Given the description of an element on the screen output the (x, y) to click on. 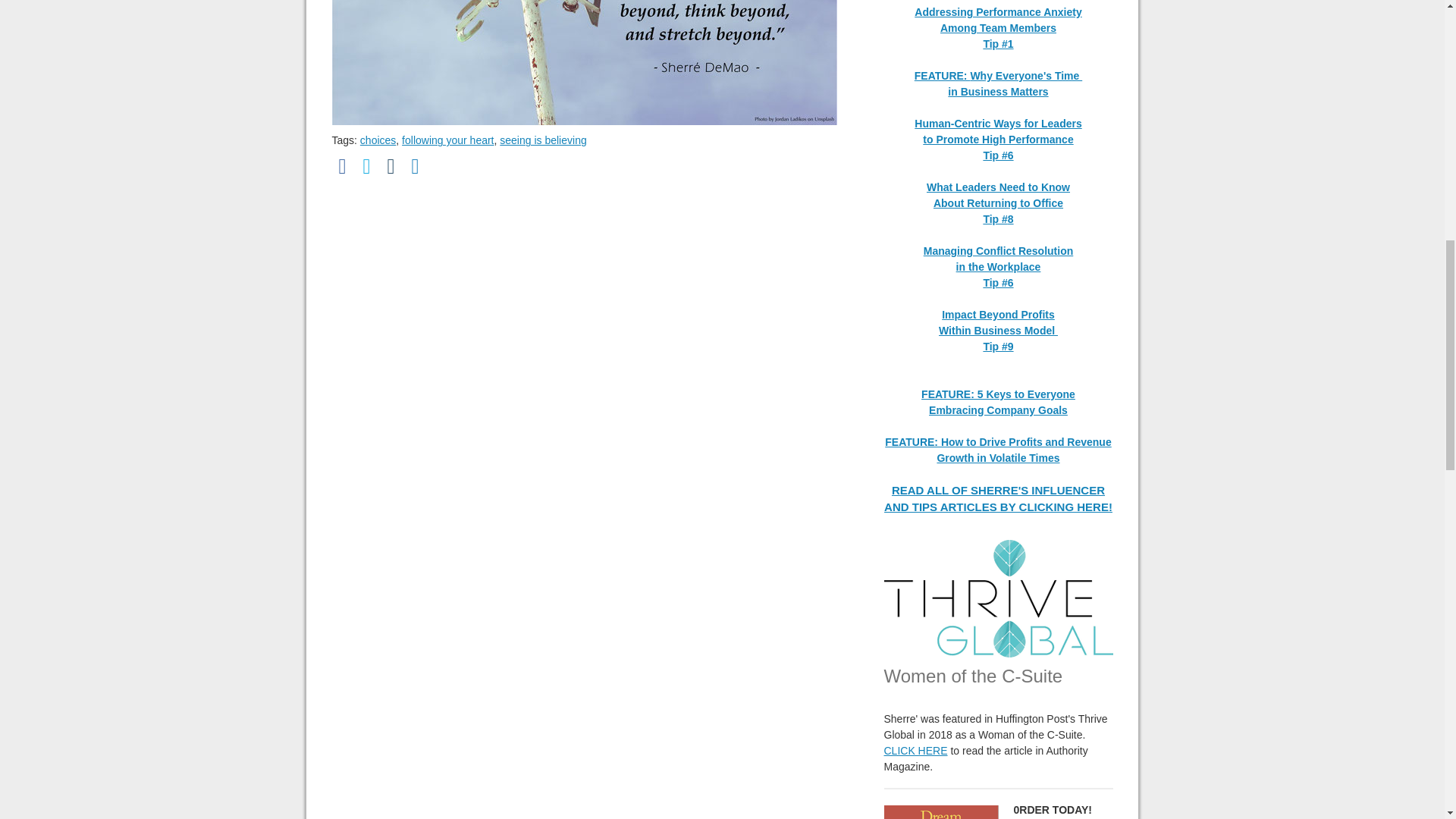
seeing is believing (542, 140)
Email (390, 166)
Facebook (342, 166)
choices (377, 140)
Twitter (366, 166)
following your heart (447, 140)
LinkedIn (415, 166)
